Given the description of an element on the screen output the (x, y) to click on. 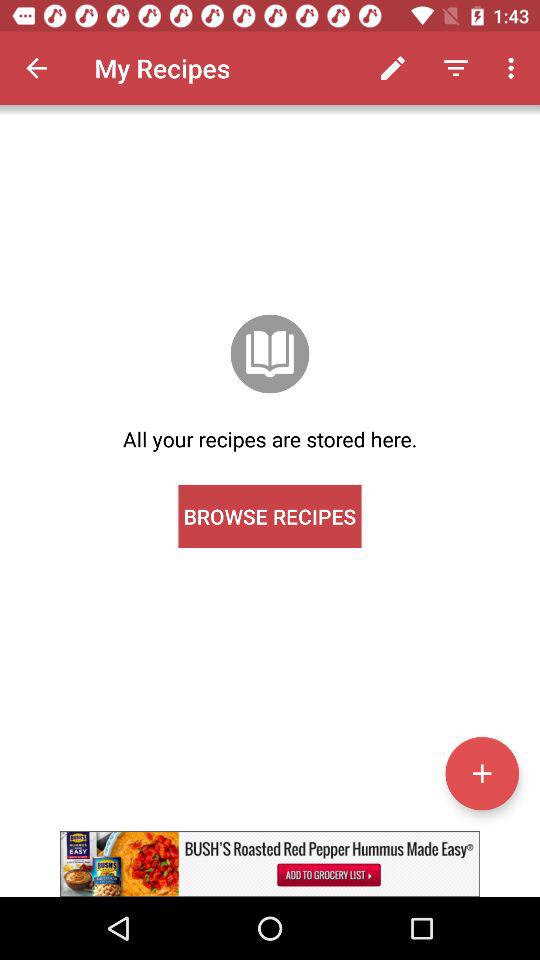
add recipe (482, 773)
